Given the description of an element on the screen output the (x, y) to click on. 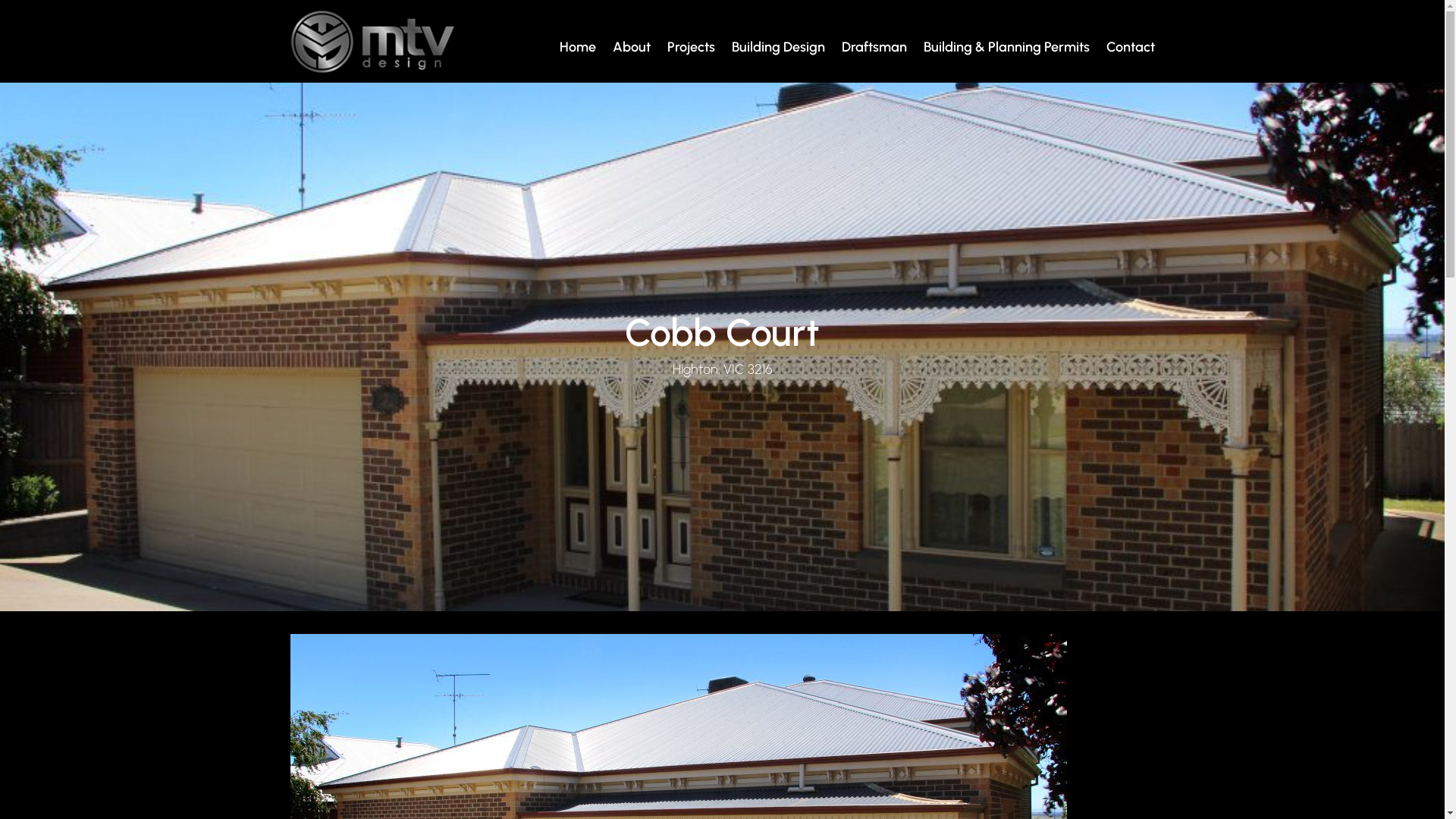
Home Element type: text (574, 47)
MTV Design | Architects in Geelong Element type: hover (371, 41)
on Element type: text (722, 4)
Building & Planning Permits Element type: text (1002, 47)
About Element type: text (627, 47)
Contact Element type: text (1127, 47)
Projects Element type: text (687, 47)
Draftsman Element type: text (870, 47)
Building Design Element type: text (775, 47)
